Given the description of an element on the screen output the (x, y) to click on. 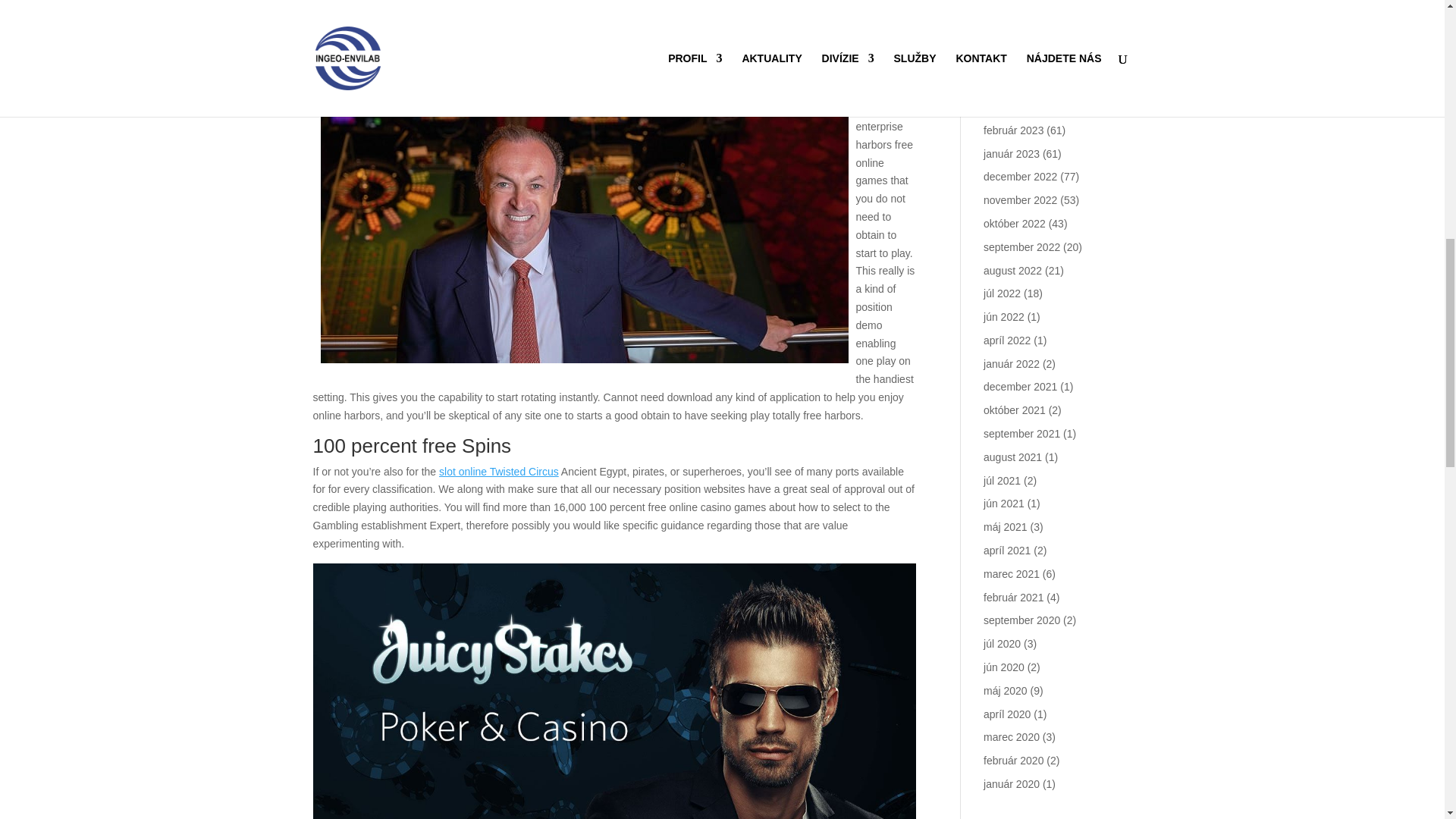
slot online Twisted Circus (499, 471)
